Given the description of an element on the screen output the (x, y) to click on. 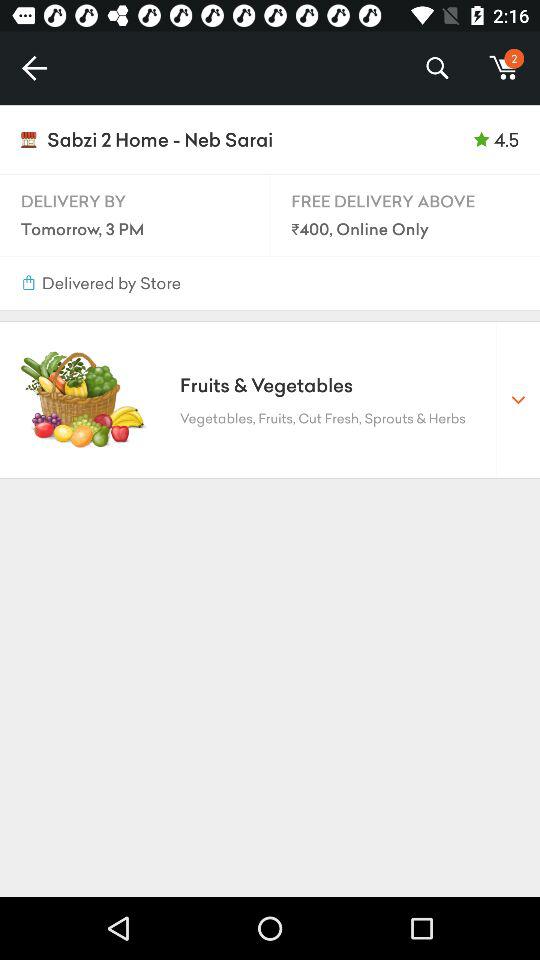
press the % item (436, 67)
